Given the description of an element on the screen output the (x, y) to click on. 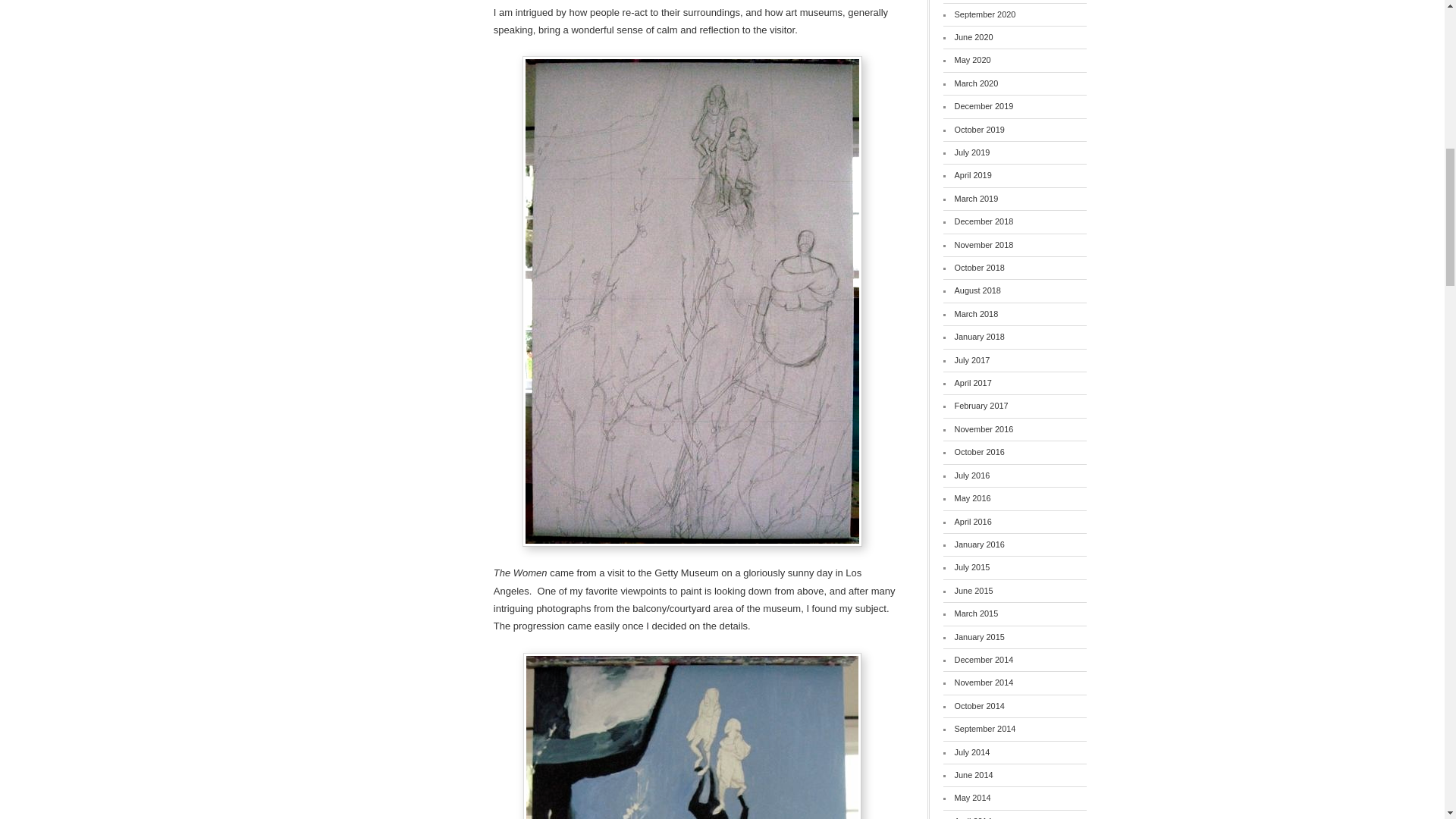
June 2020 (973, 36)
September 2020 (985, 13)
